Given the description of an element on the screen output the (x, y) to click on. 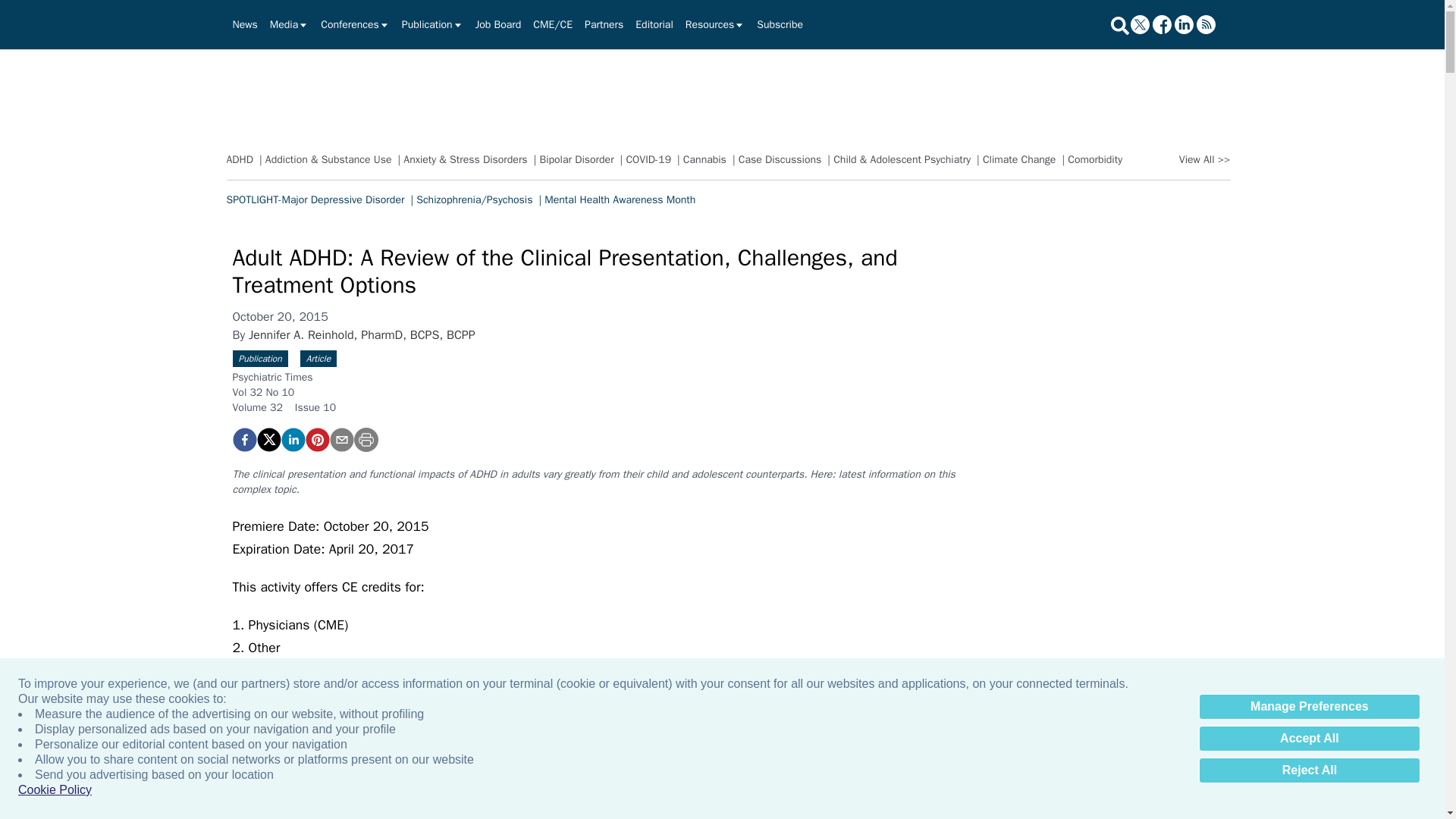
News (244, 23)
Job Board (498, 23)
Cookie Policy (54, 789)
Nonstimulant drug therapy options (767, 807)
Manage Preferences (1309, 706)
Accept All (1309, 738)
Subscribe (780, 23)
Partners (604, 23)
Reject All (1309, 769)
Editorial (653, 23)
Stimulant drug therapy options (767, 628)
